Given the description of an element on the screen output the (x, y) to click on. 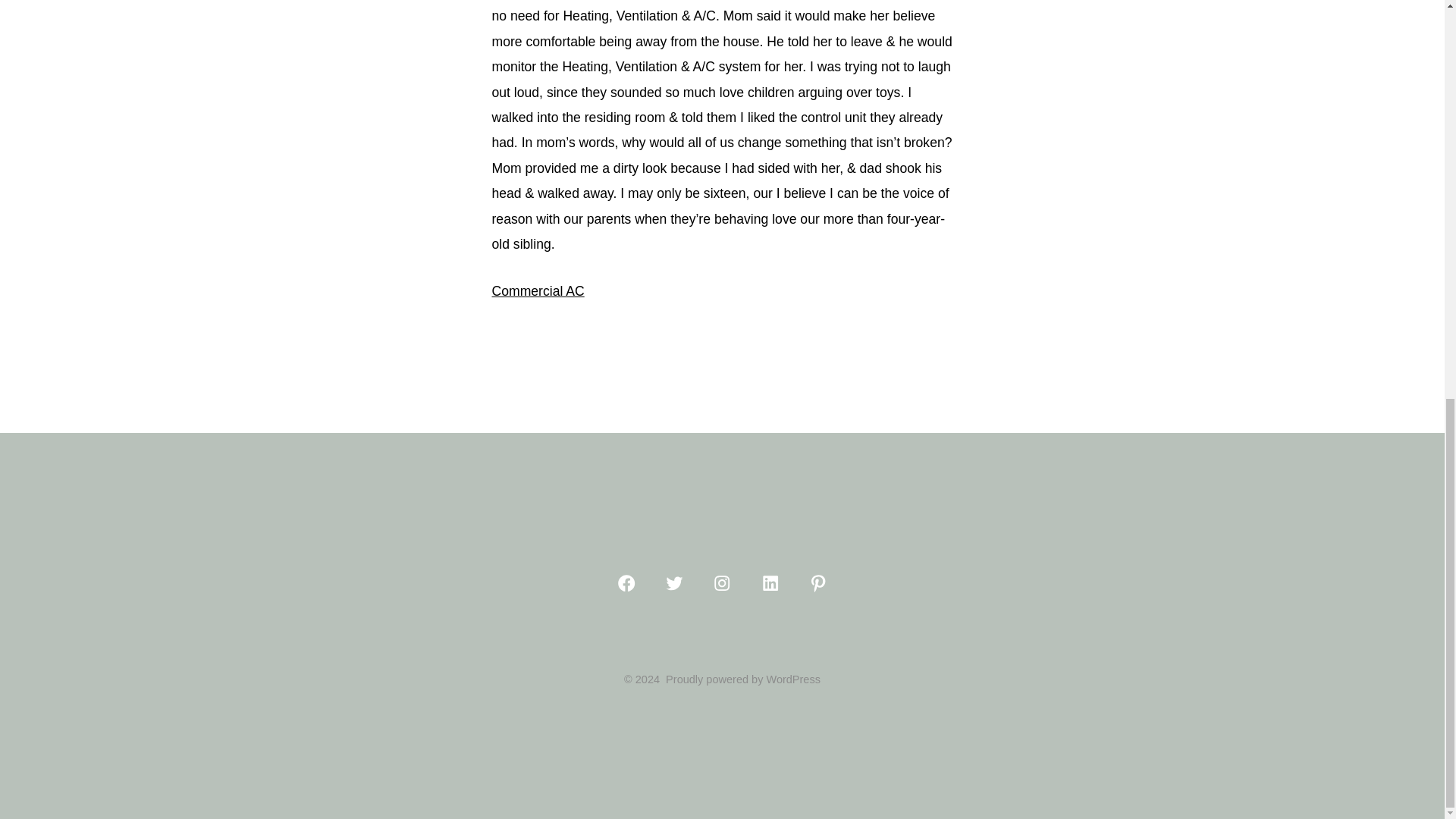
Open LinkedIn in a new tab (770, 583)
Commercial AC (537, 290)
Open Twitter in a new tab (673, 583)
Open Pinterest in a new tab (818, 583)
Open Facebook in a new tab (625, 583)
Open Instagram in a new tab (722, 583)
